Given the description of an element on the screen output the (x, y) to click on. 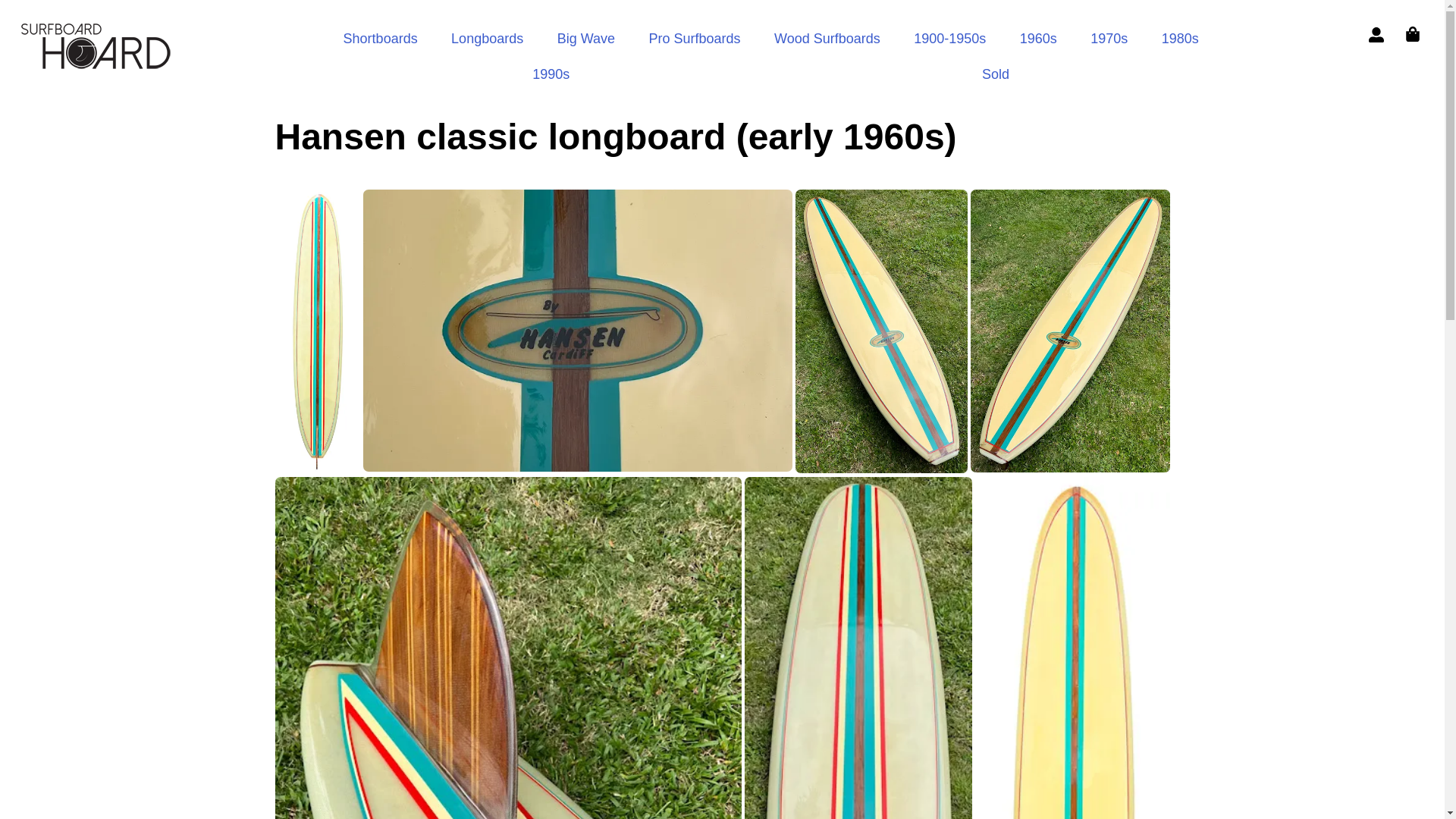
1990s (551, 74)
1960s (1038, 38)
Sold (995, 74)
1900-1950s (949, 38)
Pro Surfboards (694, 38)
Big Wave (585, 38)
Shortboards (379, 38)
1970s (1109, 38)
Longboards (486, 38)
1980s (1179, 38)
Wood Surfboards (826, 38)
